Given the description of an element on the screen output the (x, y) to click on. 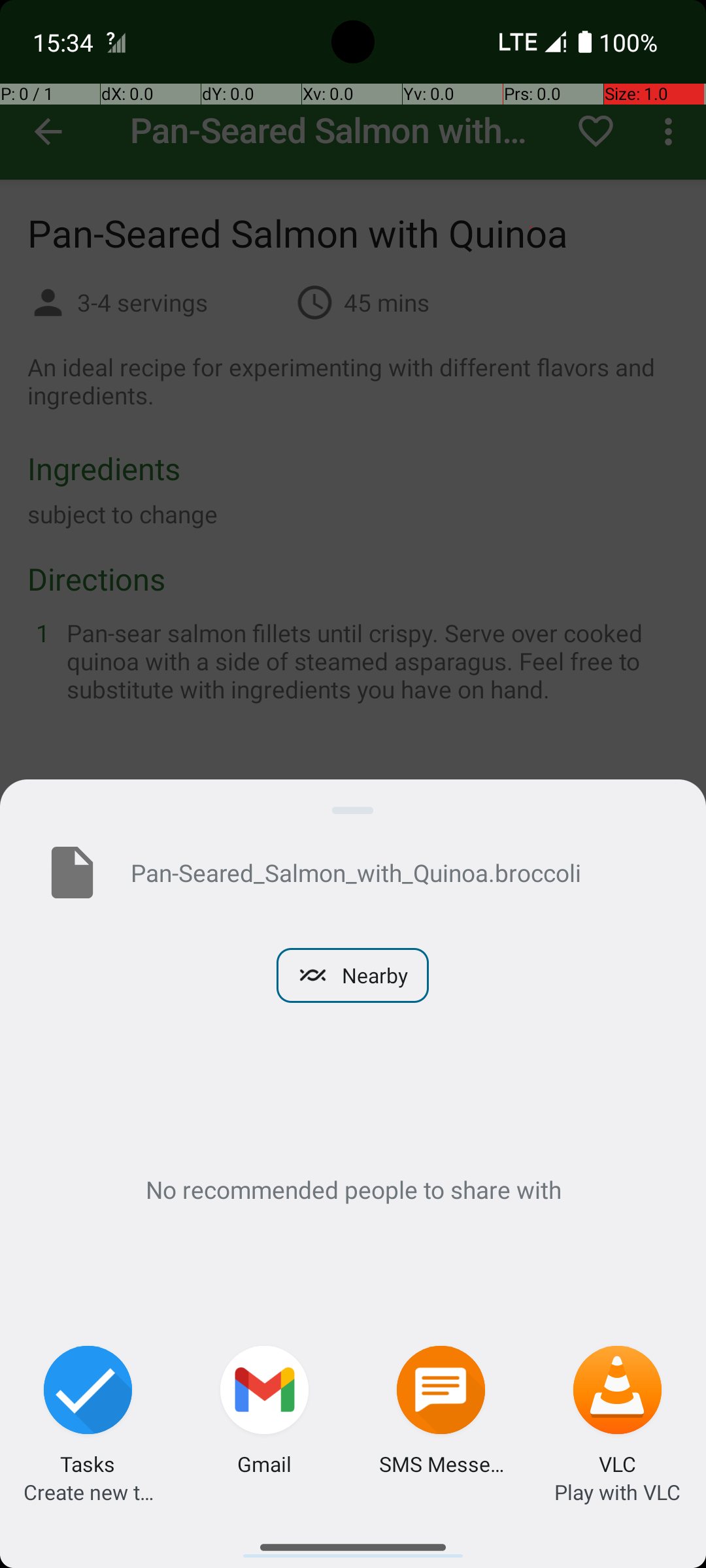
Pan-Seared_Salmon_with_Quinoa.broccoli Element type: android.widget.TextView (397, 872)
Play with VLC Element type: android.widget.TextView (617, 1491)
